Given the description of an element on the screen output the (x, y) to click on. 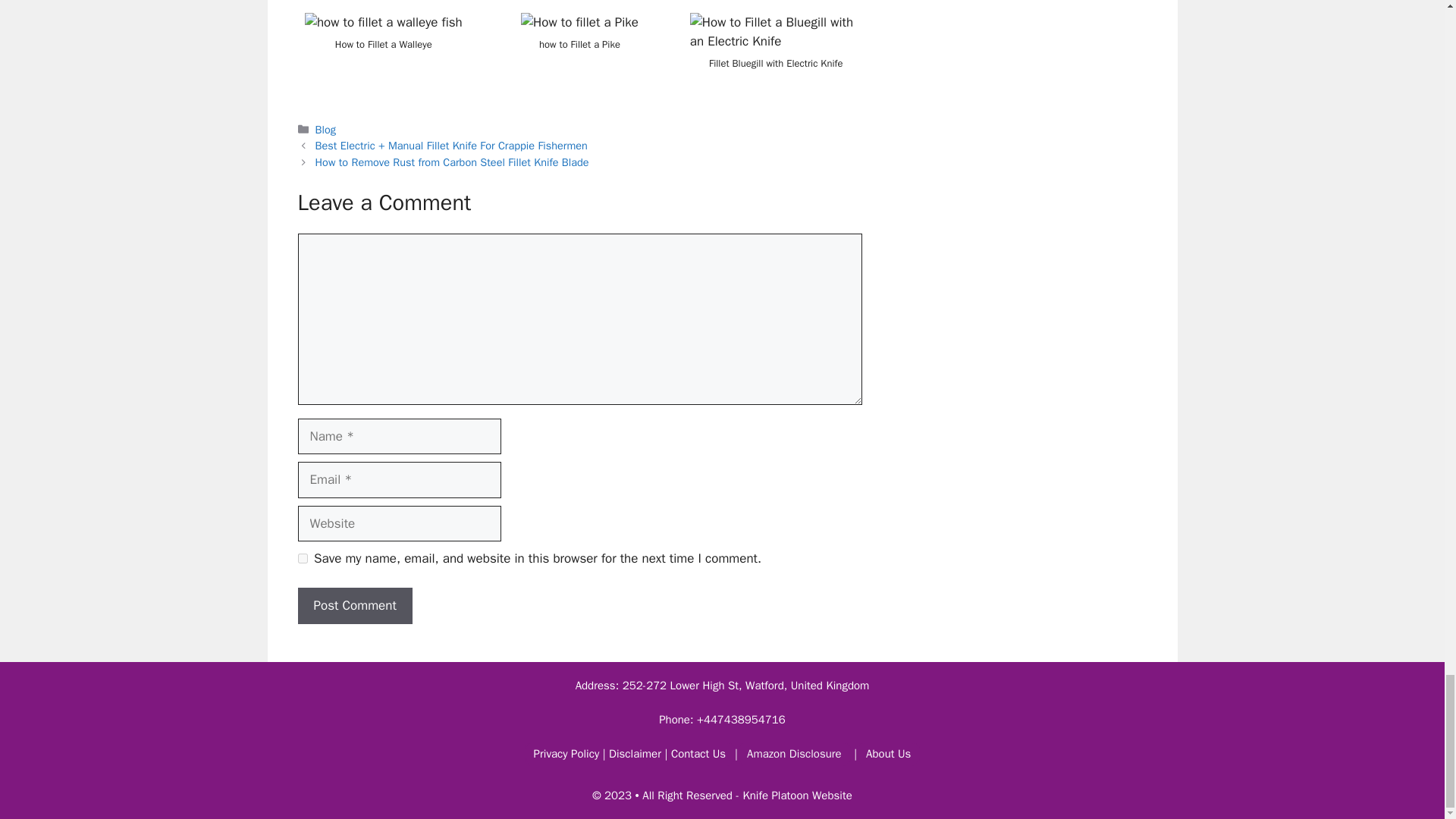
yes (302, 558)
Post Comment (354, 606)
